Given the description of an element on the screen output the (x, y) to click on. 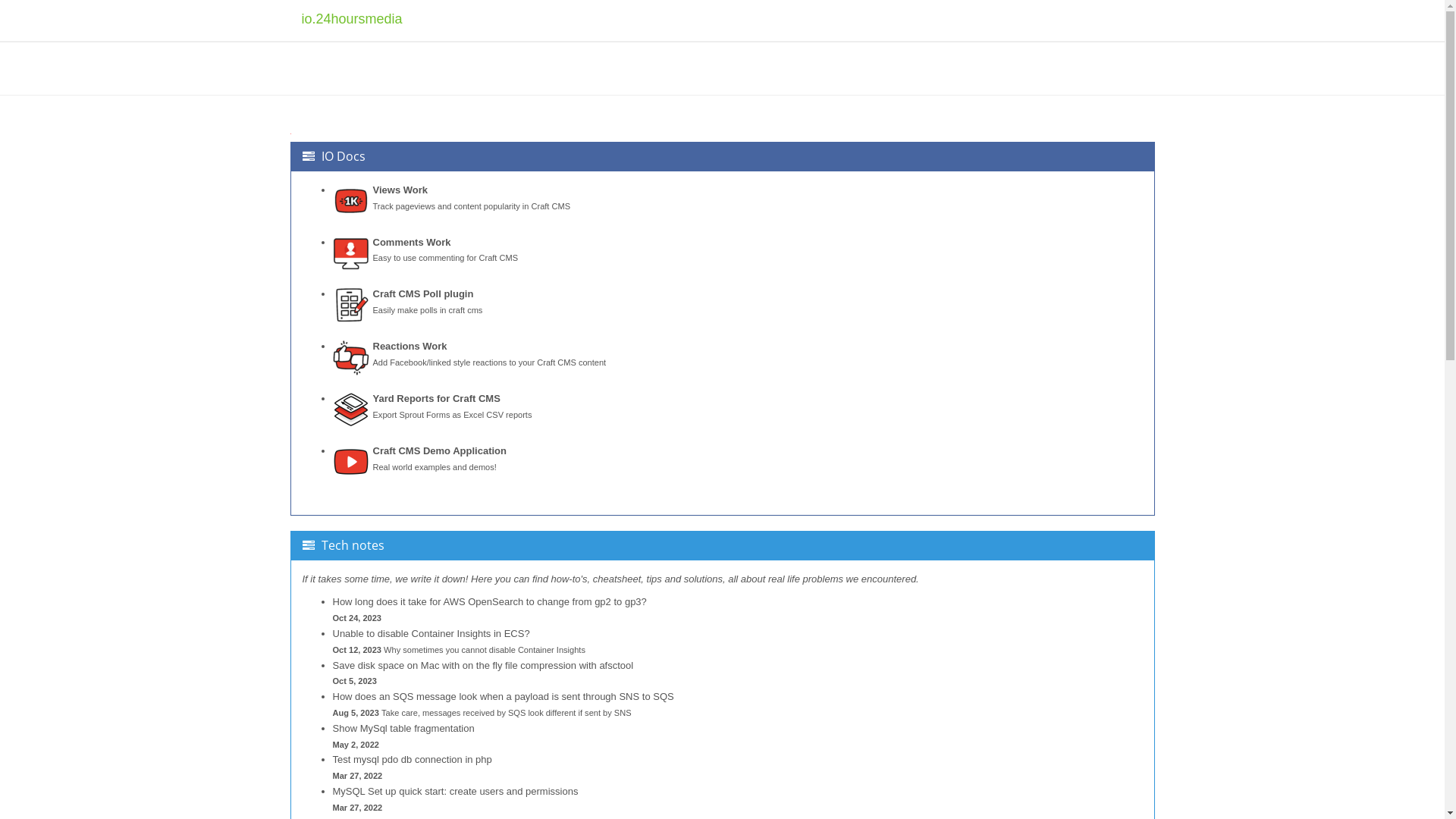
io.24hoursmedia Element type: text (351, 35)
Views Work Element type: text (400, 189)
Show MySql table fragmentation Element type: text (402, 728)
Craft CMS Poll plugin Element type: text (423, 293)
Unable to disable Container Insights in ECS? Element type: text (430, 633)
Reactions Work Element type: text (410, 345)
Comments Work Element type: text (412, 241)
Yard Reports for Craft CMS Element type: text (436, 398)
MySQL Set up quick start: create users and permissions Element type: text (454, 791)
Craft CMS Demo Application Element type: text (439, 450)
Test mysql pdo db connection in php Element type: text (411, 759)
